Given the description of an element on the screen output the (x, y) to click on. 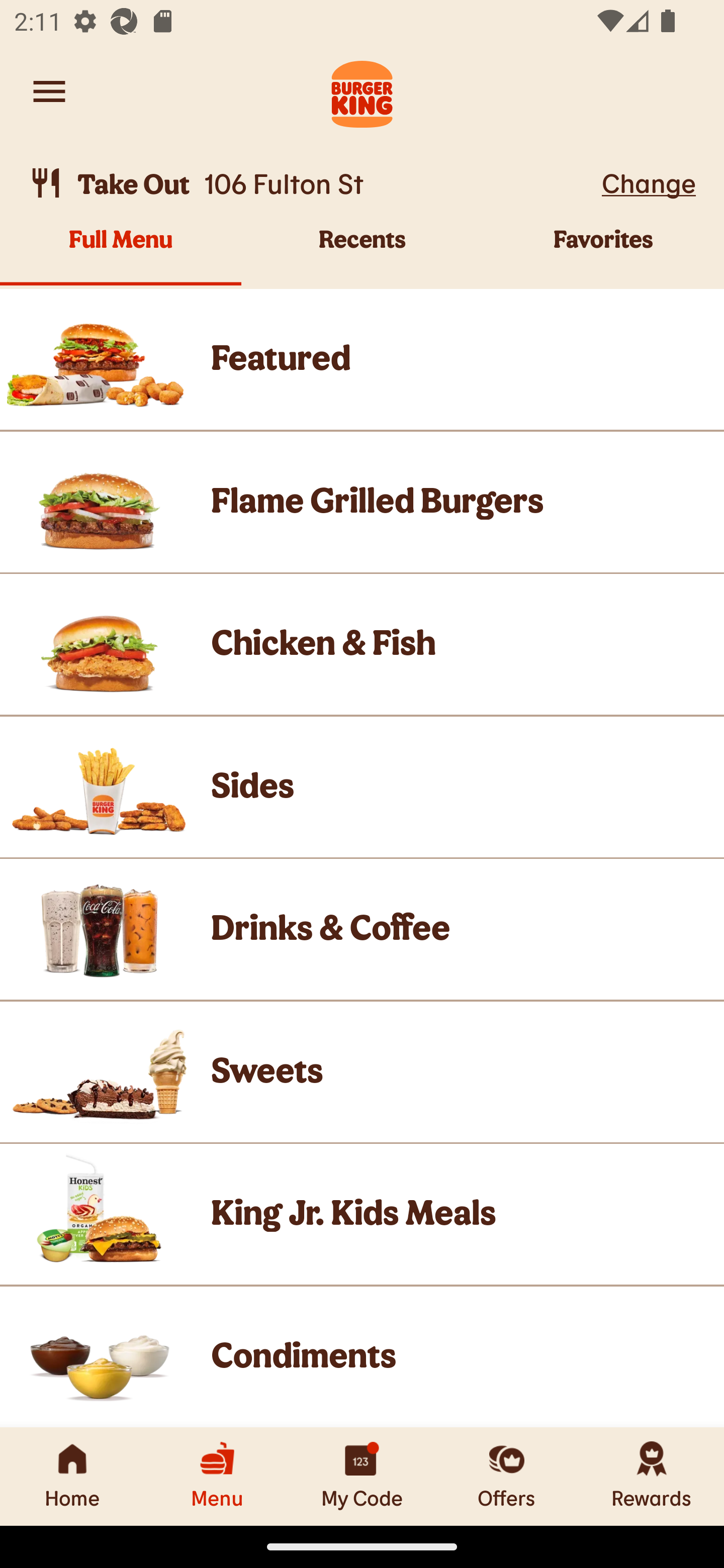
Burger King Logo. Navigate to Home (362, 91)
Navigate to account menu  (49, 91)
Take Out, 106 Fulton St  Take Out 106 Fulton St (311, 183)
Change (648, 182)
Full Menu (120, 255)
Recents (361, 255)
Favorites (603, 255)
Product Image, Featured Product Image Featured (362, 358)
Product Image, Sides Product Image Sides (362, 786)
Product Image, Sweets Product Image Sweets (362, 1072)
Product Image, Condiments Product Image Condiments (362, 1356)
Home (72, 1475)
Menu (216, 1475)
My Code (361, 1475)
Offers (506, 1475)
Rewards (651, 1475)
